Given the description of an element on the screen output the (x, y) to click on. 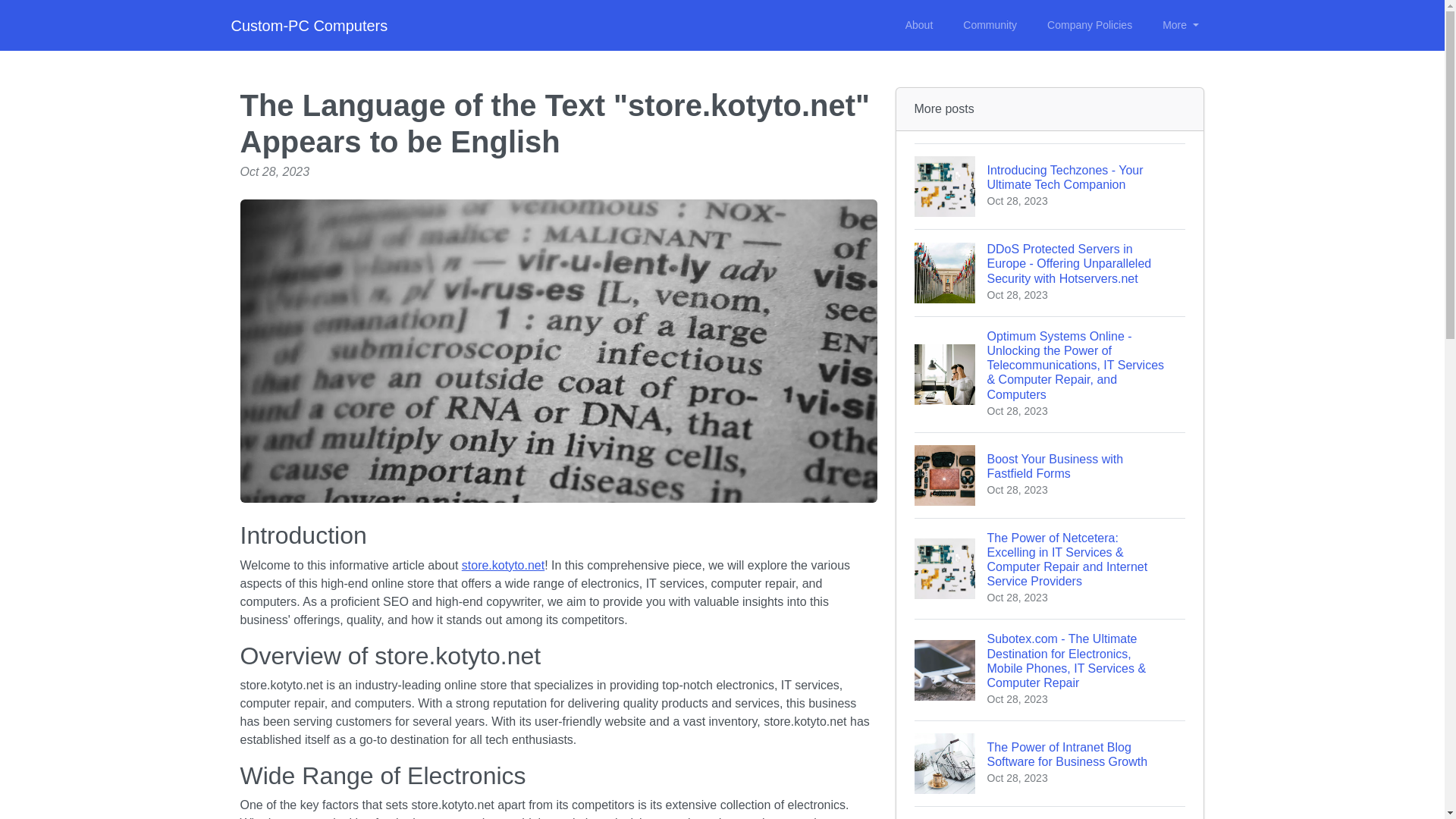
Company Policies (1089, 25)
More (1180, 25)
Custom-PC Computers (308, 25)
Community (989, 25)
About (919, 25)
store.kotyto.net (502, 564)
